Given the description of an element on the screen output the (x, y) to click on. 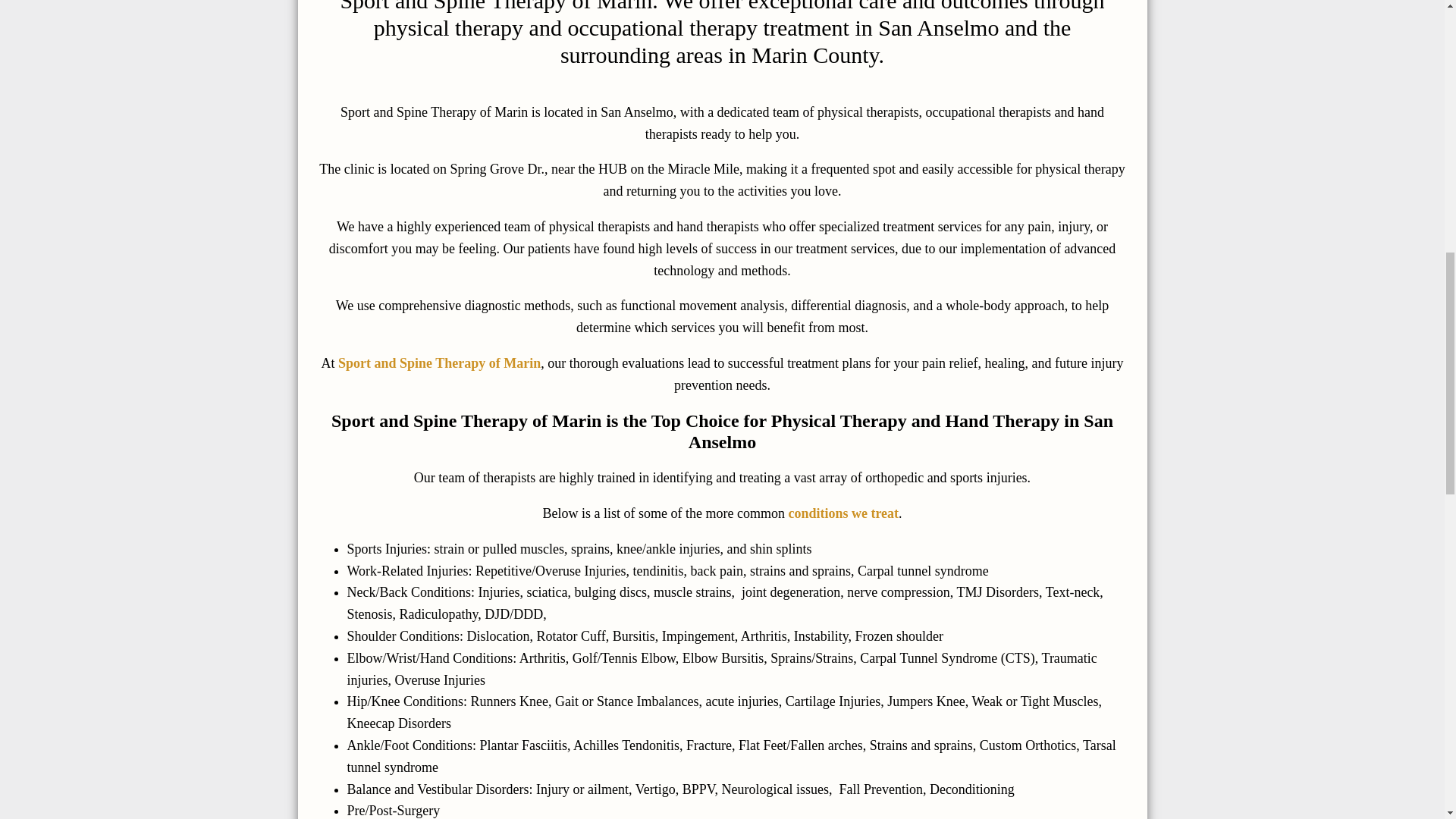
Sport and Spine Therapy of Marin (438, 363)
conditions we treat (842, 513)
